Given the description of an element on the screen output the (x, y) to click on. 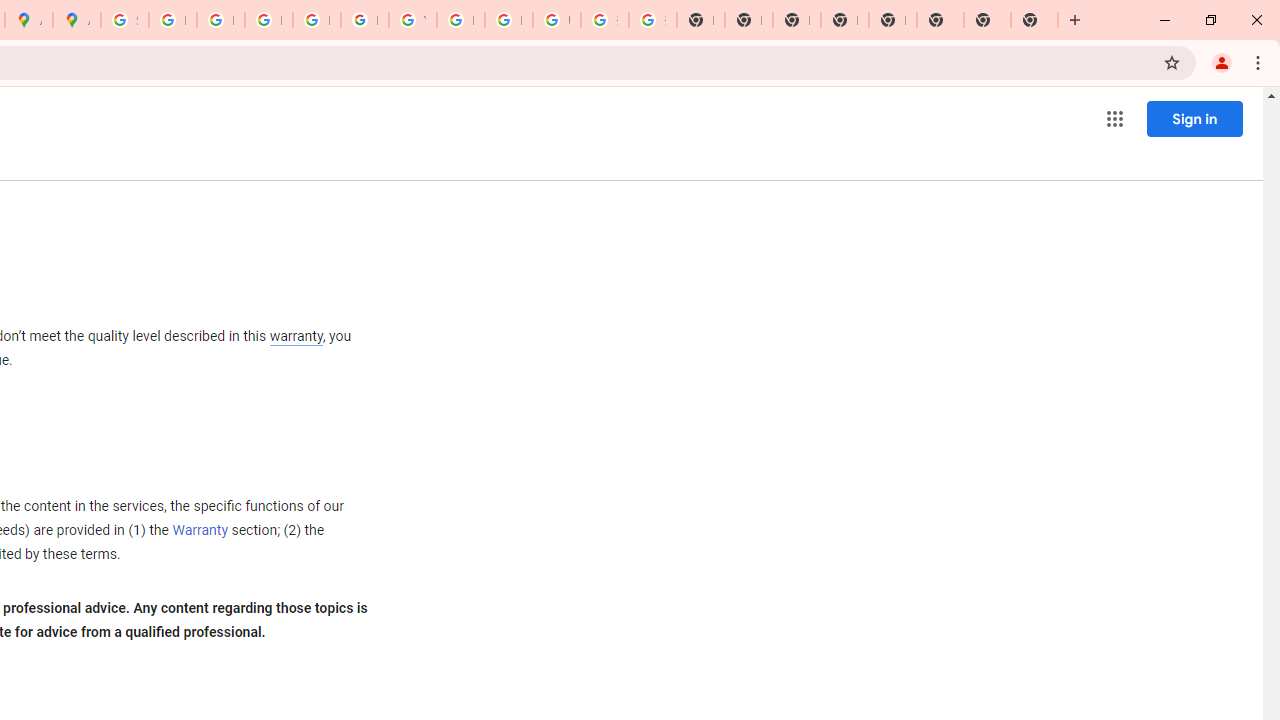
Warranty (200, 531)
Privacy Help Center - Policies Help (268, 20)
New Tab (1034, 20)
Privacy Help Center - Policies Help (220, 20)
New Tab (987, 20)
